Given the description of an element on the screen output the (x, y) to click on. 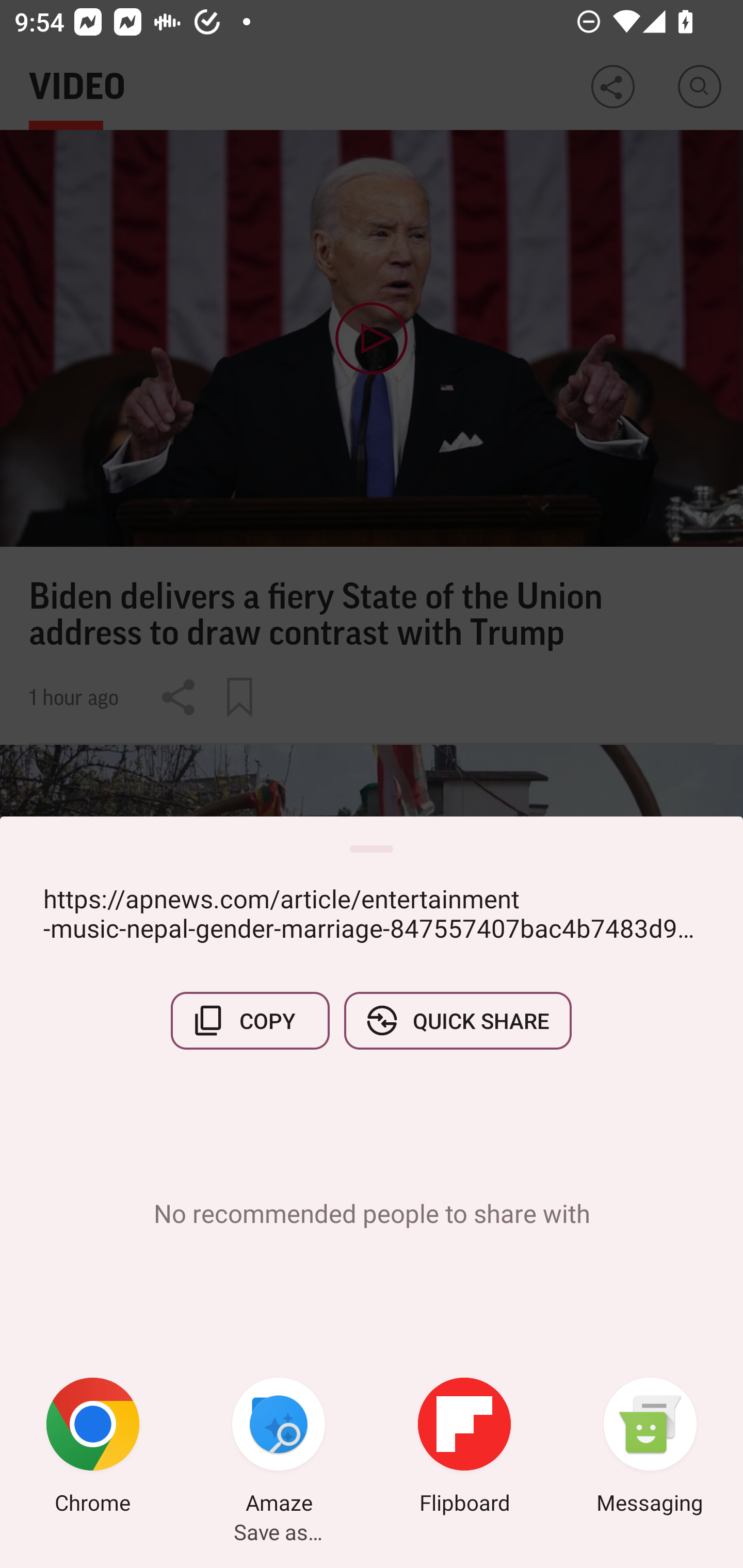
COPY (249, 1020)
QUICK SHARE (457, 1020)
Chrome (92, 1448)
Amaze Save as… (278, 1448)
Flipboard (464, 1448)
Messaging (650, 1448)
